Given the description of an element on the screen output the (x, y) to click on. 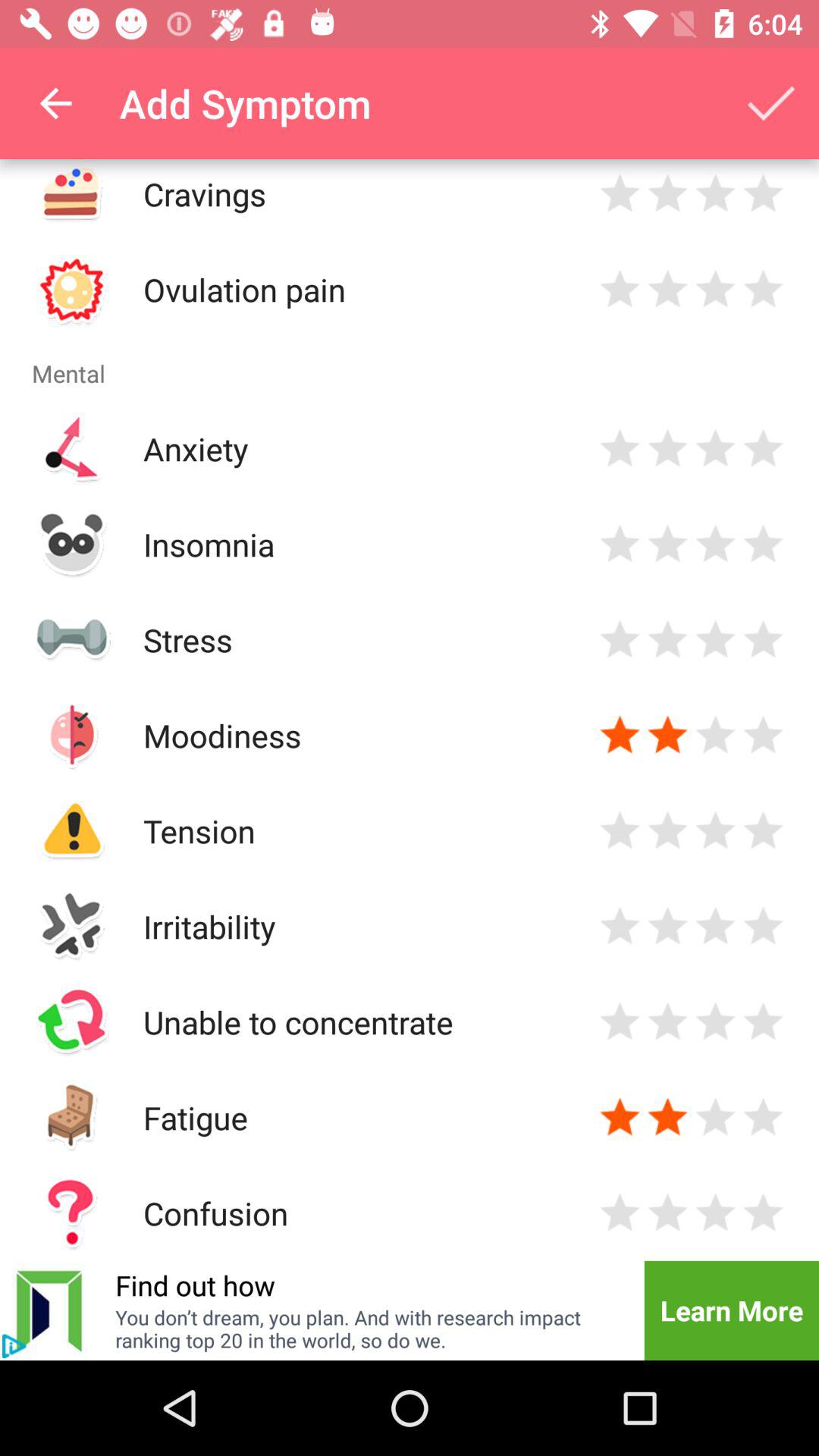
rate 5 stars (763, 289)
